Given the description of an element on the screen output the (x, y) to click on. 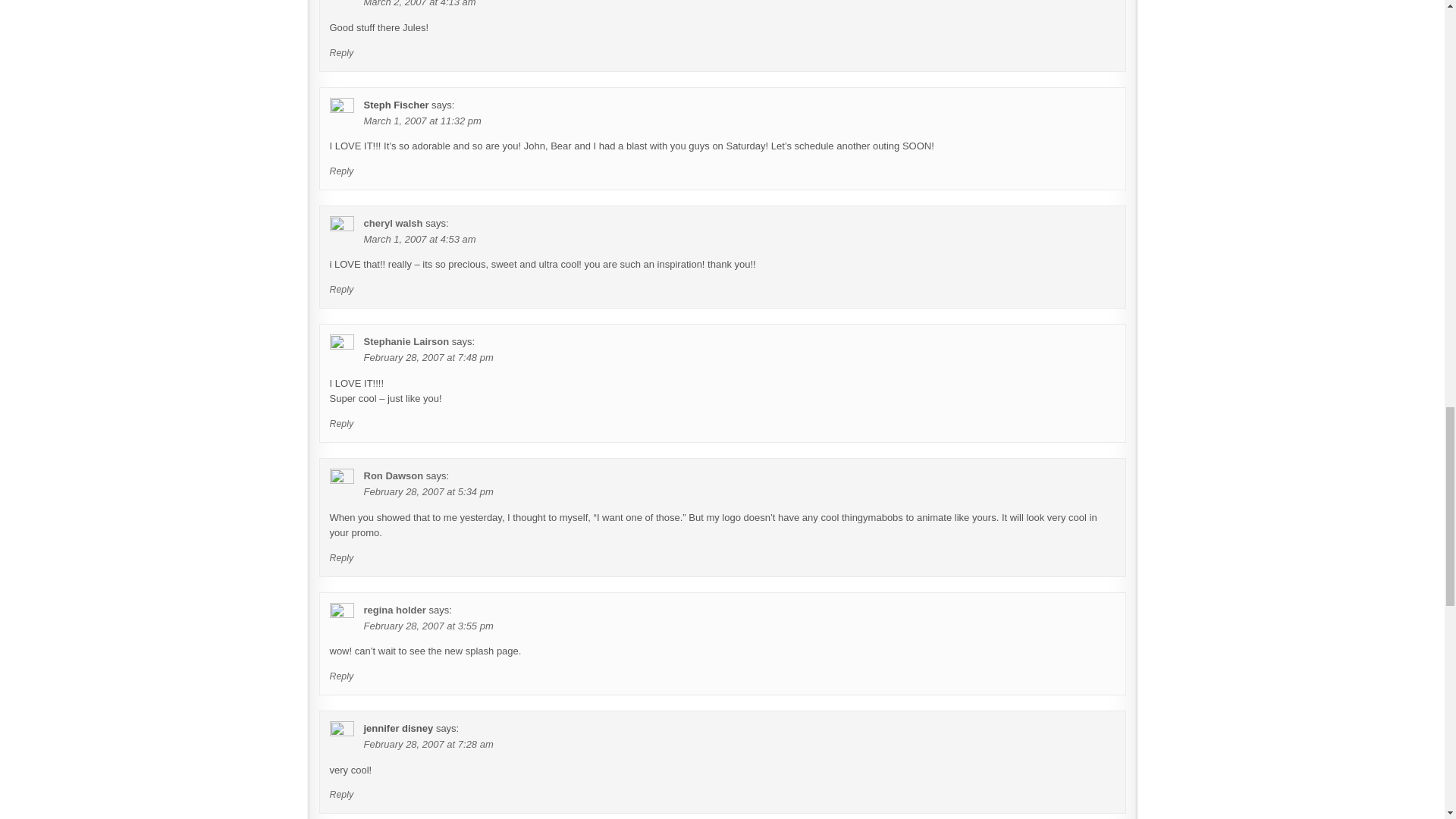
Stephanie Lairson (406, 341)
Reply (341, 171)
Ron Dawson (393, 475)
Reply (341, 557)
March 2, 2007 at 4:13 am (420, 3)
Reply (341, 423)
Reply (341, 52)
March 1, 2007 at 4:53 am (420, 238)
February 28, 2007 at 7:48 pm (428, 357)
Reply (341, 289)
